Given the description of an element on the screen output the (x, y) to click on. 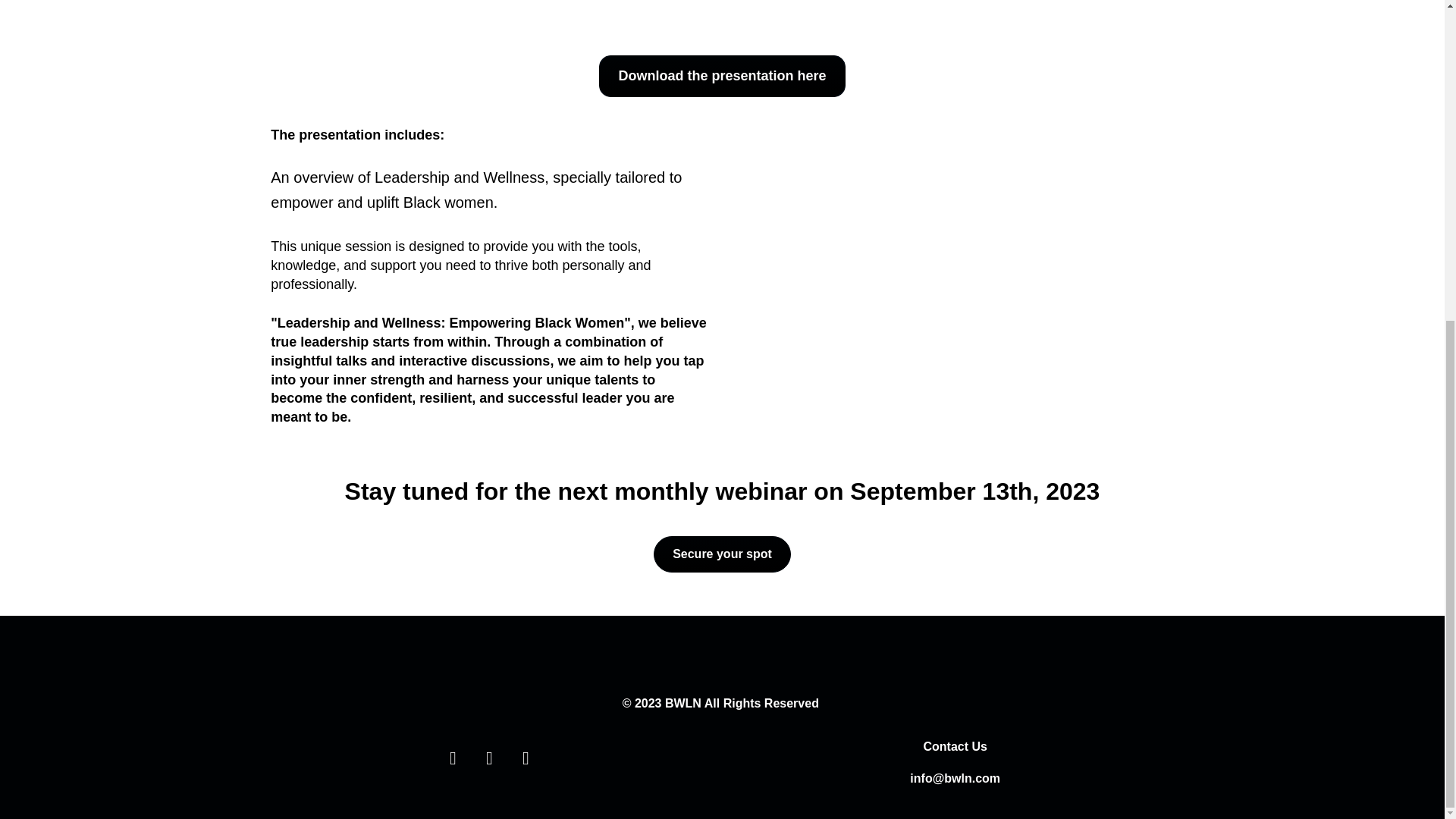
Share on Facebook (524, 758)
Secure your spot (721, 554)
Share on LinkedIn (488, 758)
Share on Twitter (451, 758)
Download the presentation here (721, 76)
